Given the description of an element on the screen output the (x, y) to click on. 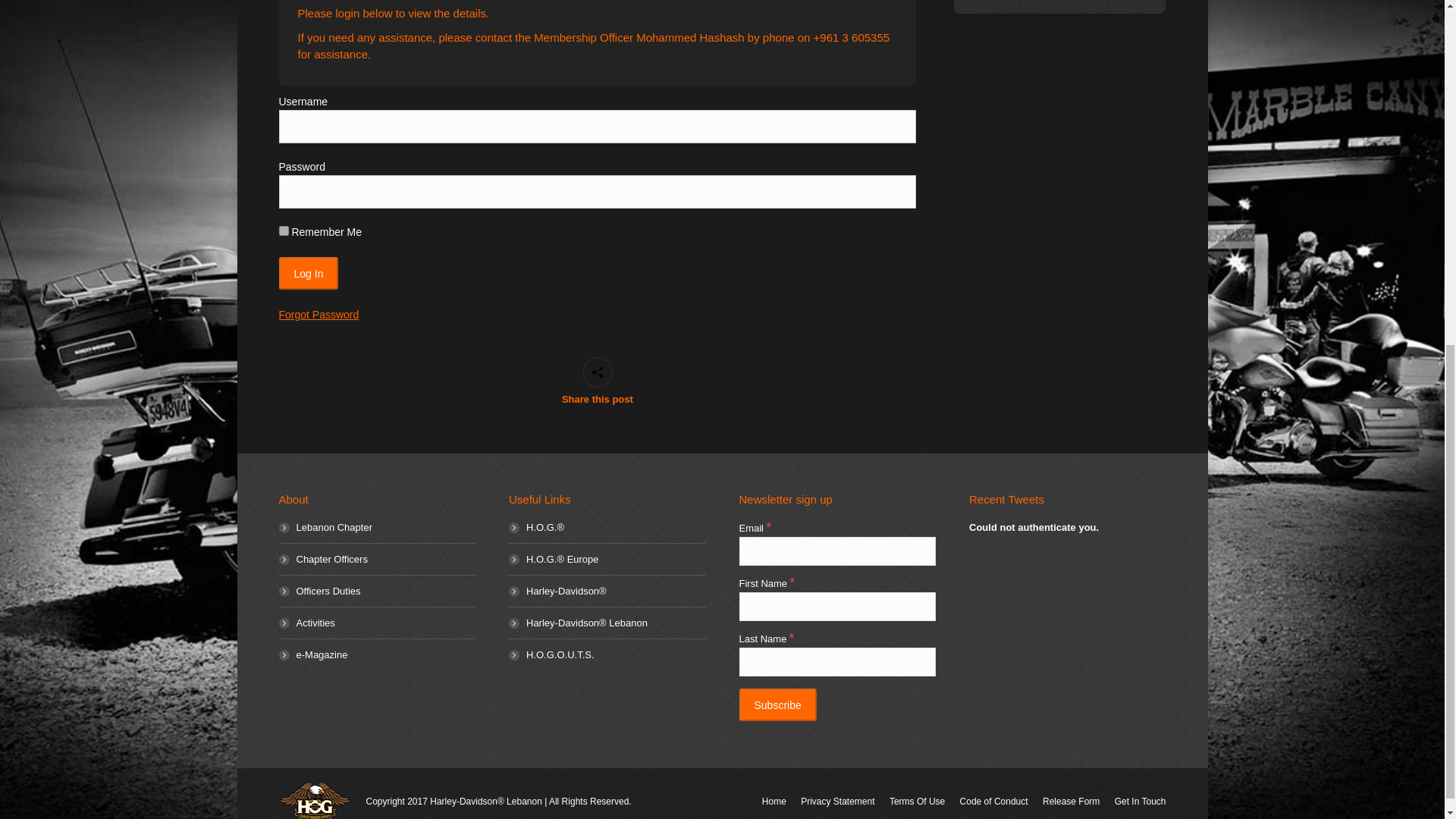
forever (283, 230)
Log In (309, 273)
Subscribe (776, 704)
